Given the description of an element on the screen output the (x, y) to click on. 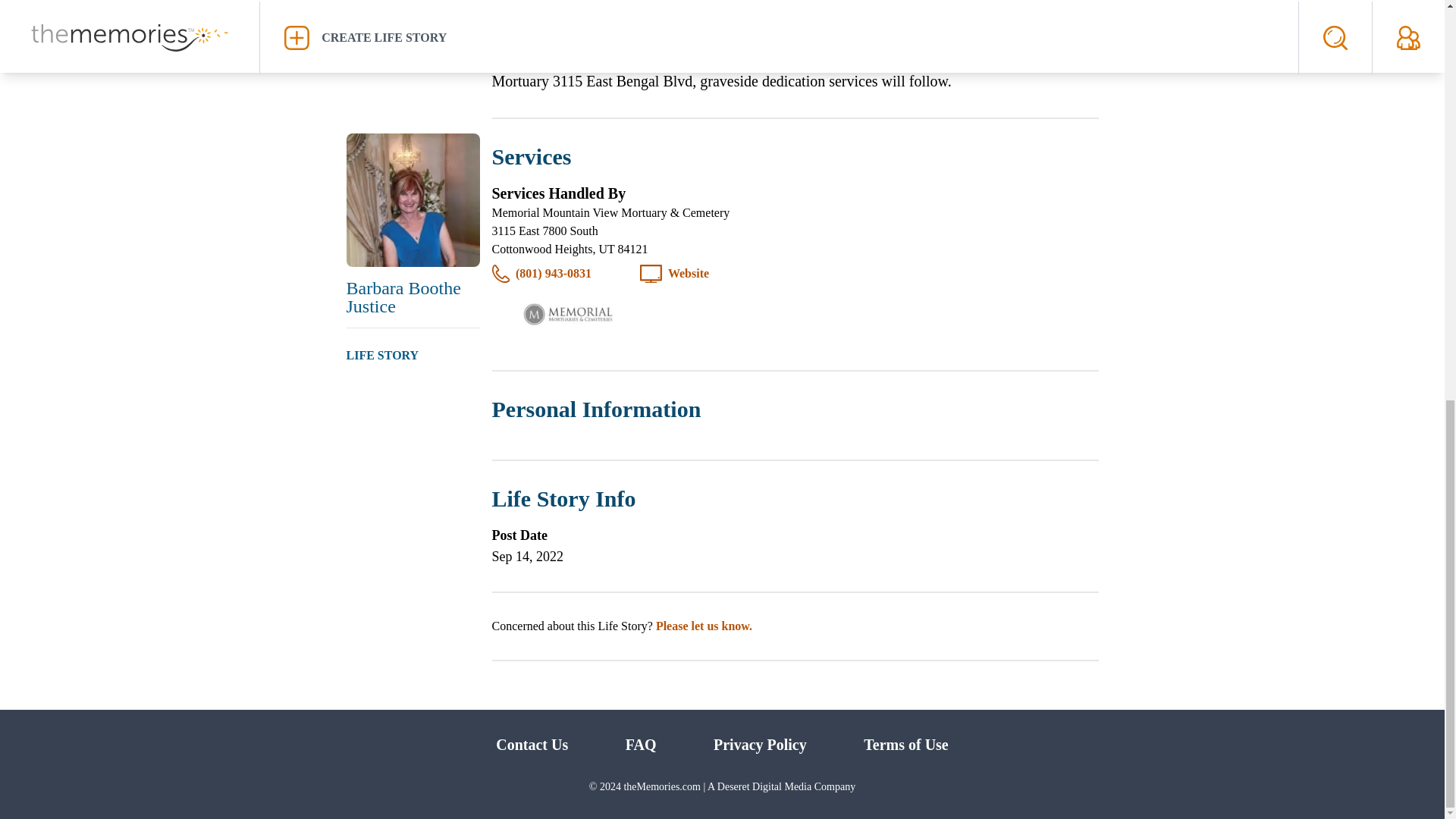
Privacy Policy (759, 744)
Website (688, 273)
Terms of Use (905, 744)
FAQ (641, 744)
Please let us know. (704, 625)
Contact Us (531, 744)
